Given the description of an element on the screen output the (x, y) to click on. 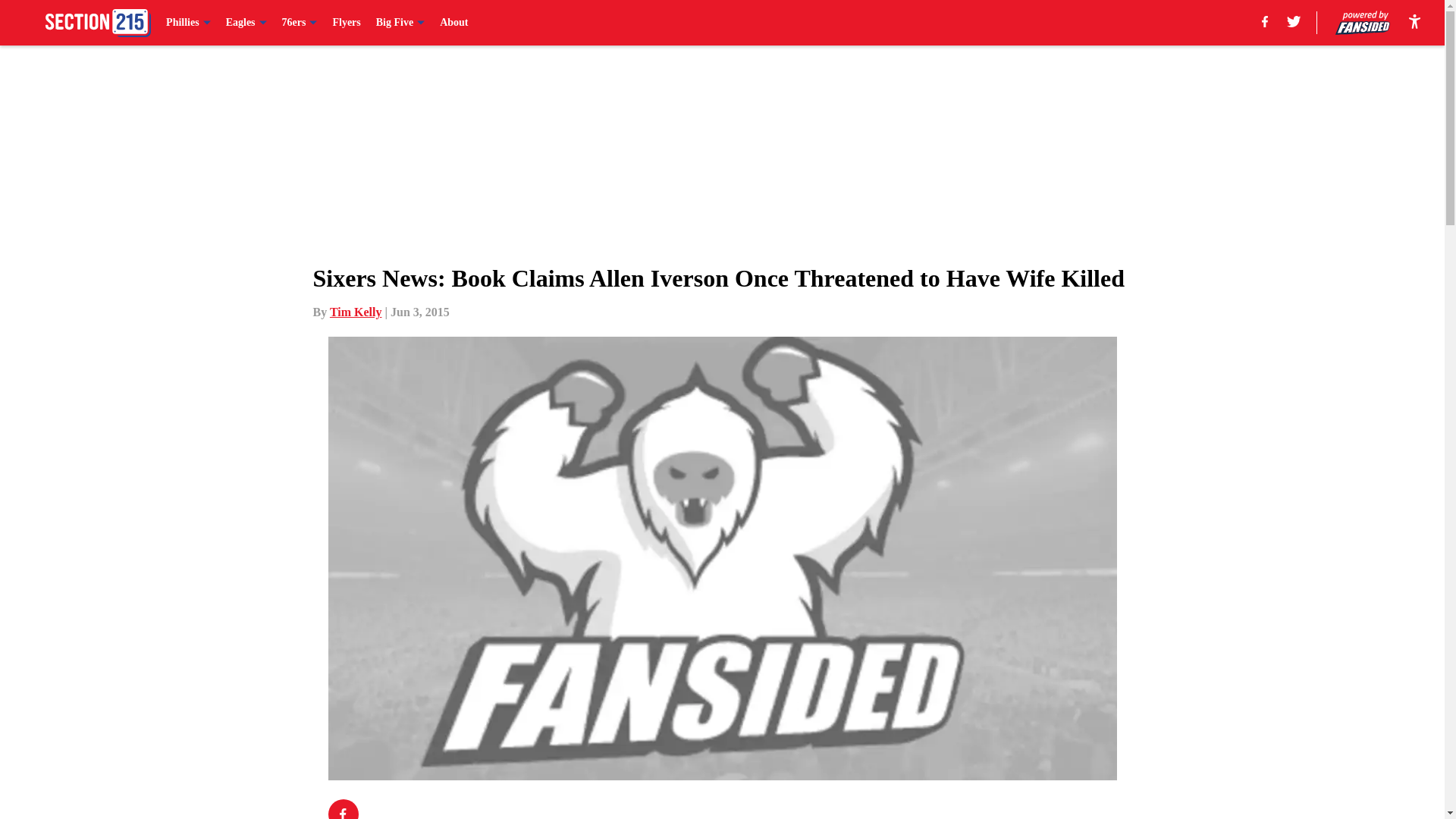
Flyers (345, 22)
About (453, 22)
Tim Kelly (355, 311)
